Given the description of an element on the screen output the (x, y) to click on. 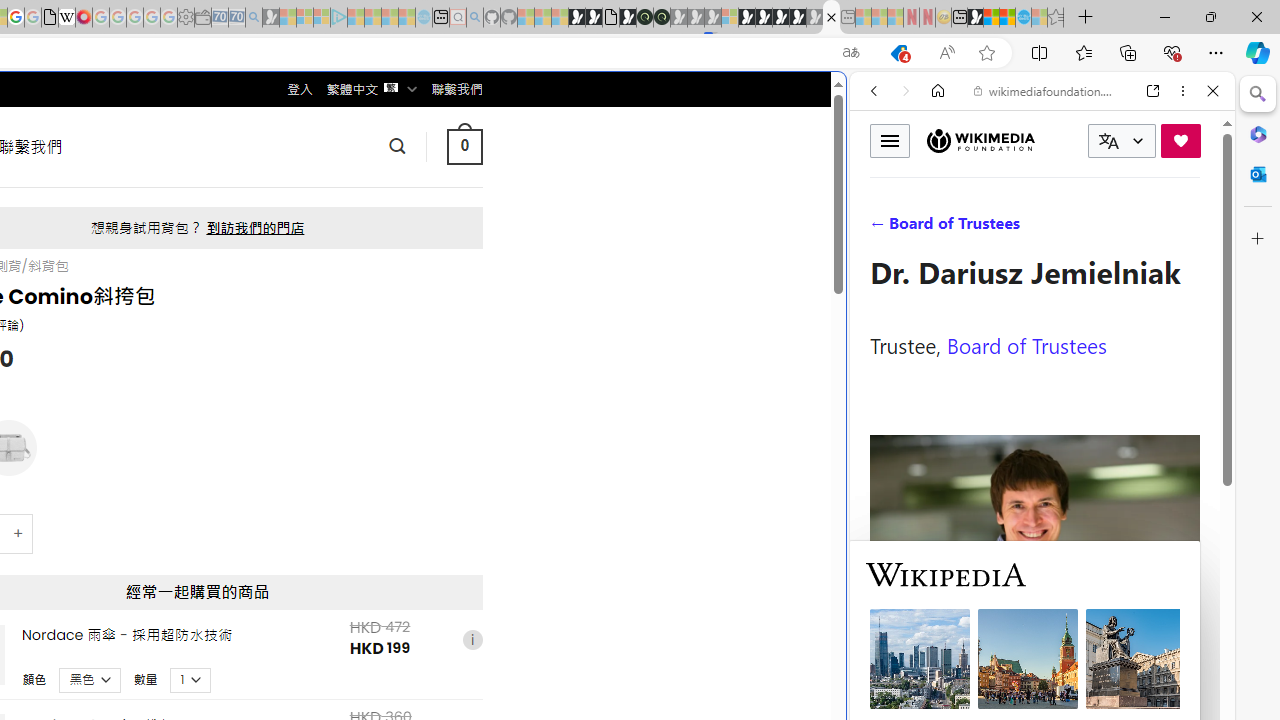
Donate now (1180, 140)
